Given the description of an element on the screen output the (x, y) to click on. 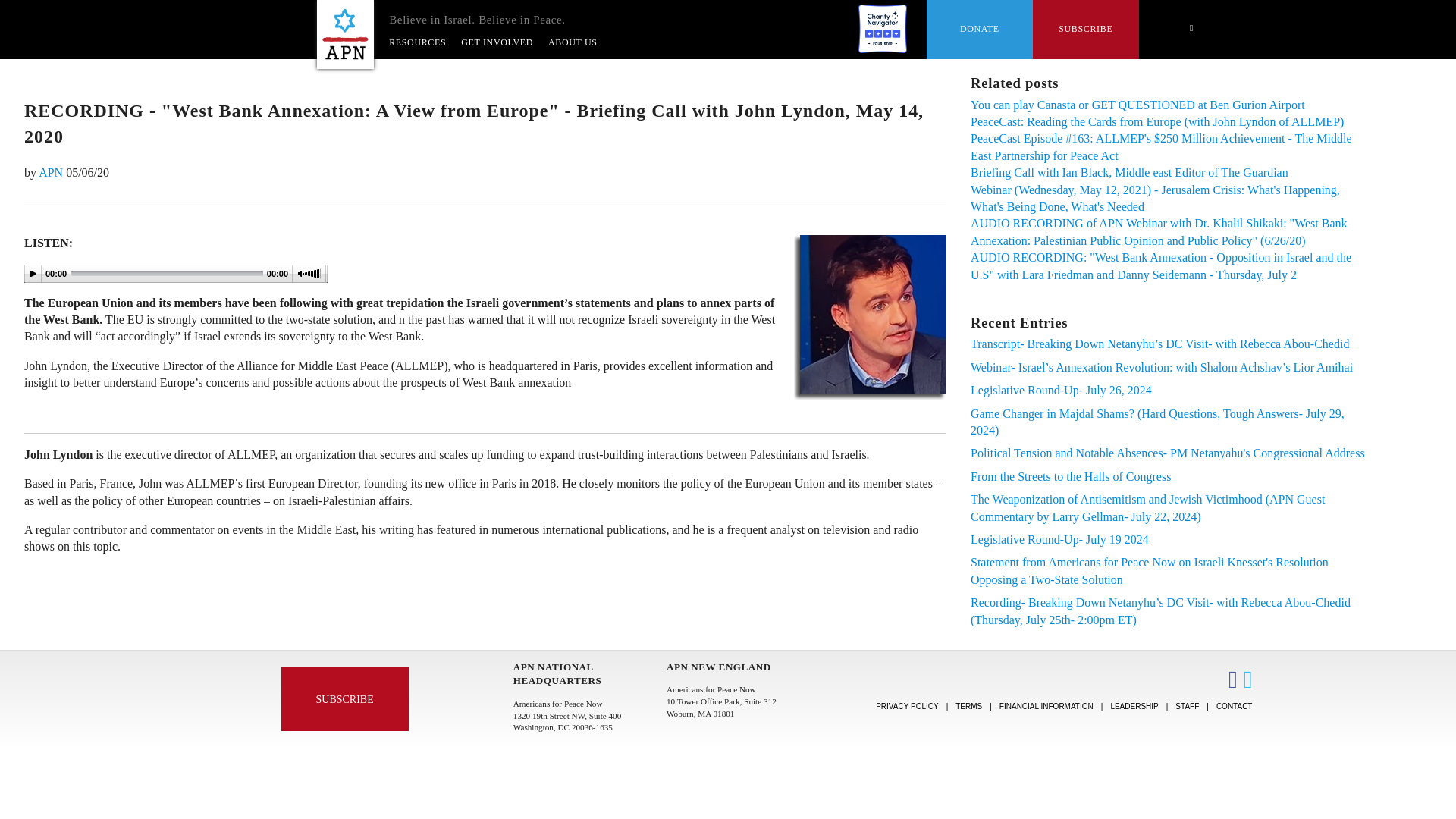
RESOURCES (416, 42)
